Given the description of an element on the screen output the (x, y) to click on. 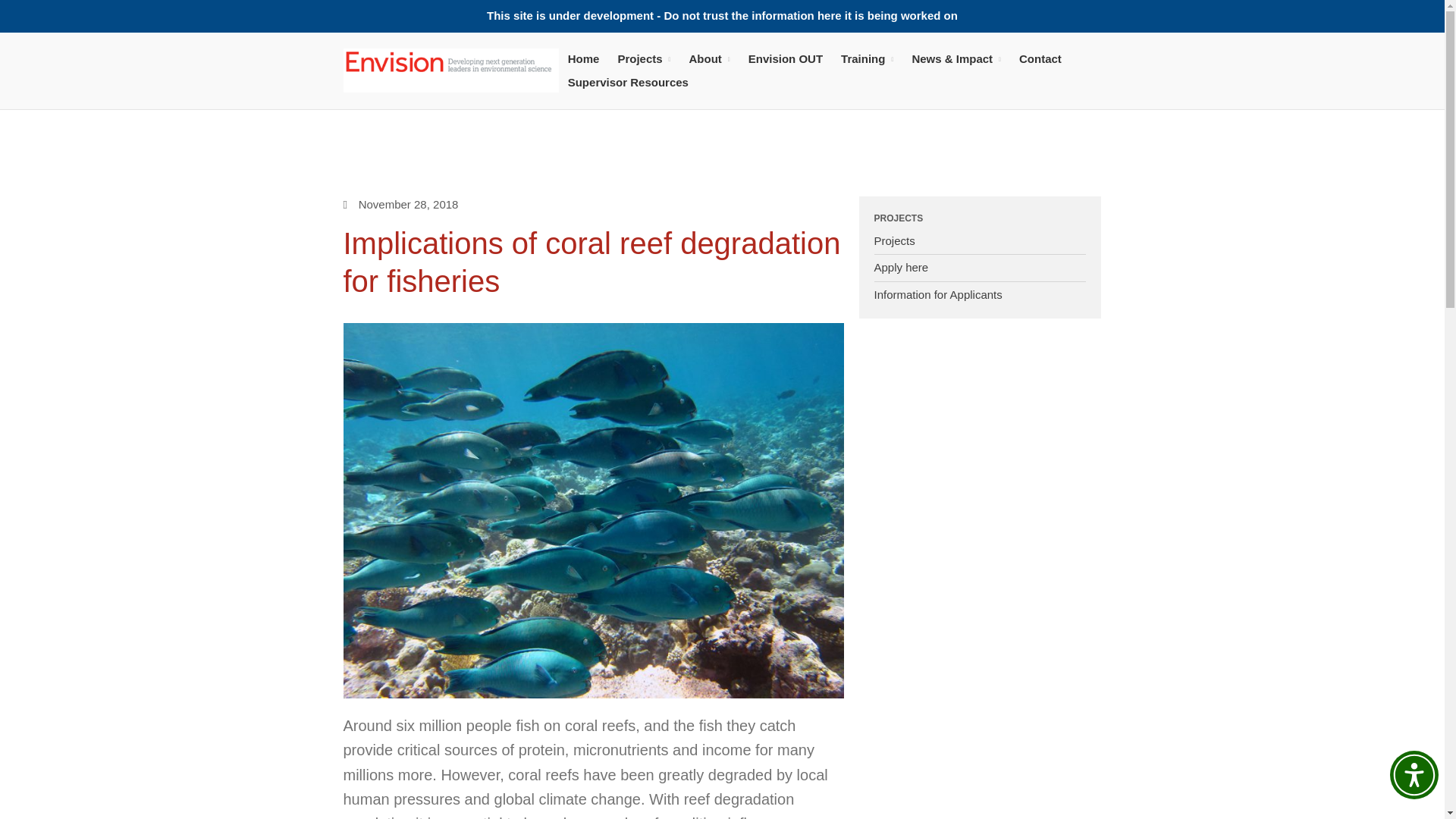
Accessibility Menu (1414, 775)
Home (583, 57)
About (709, 58)
Projects (644, 58)
